Given the description of an element on the screen output the (x, y) to click on. 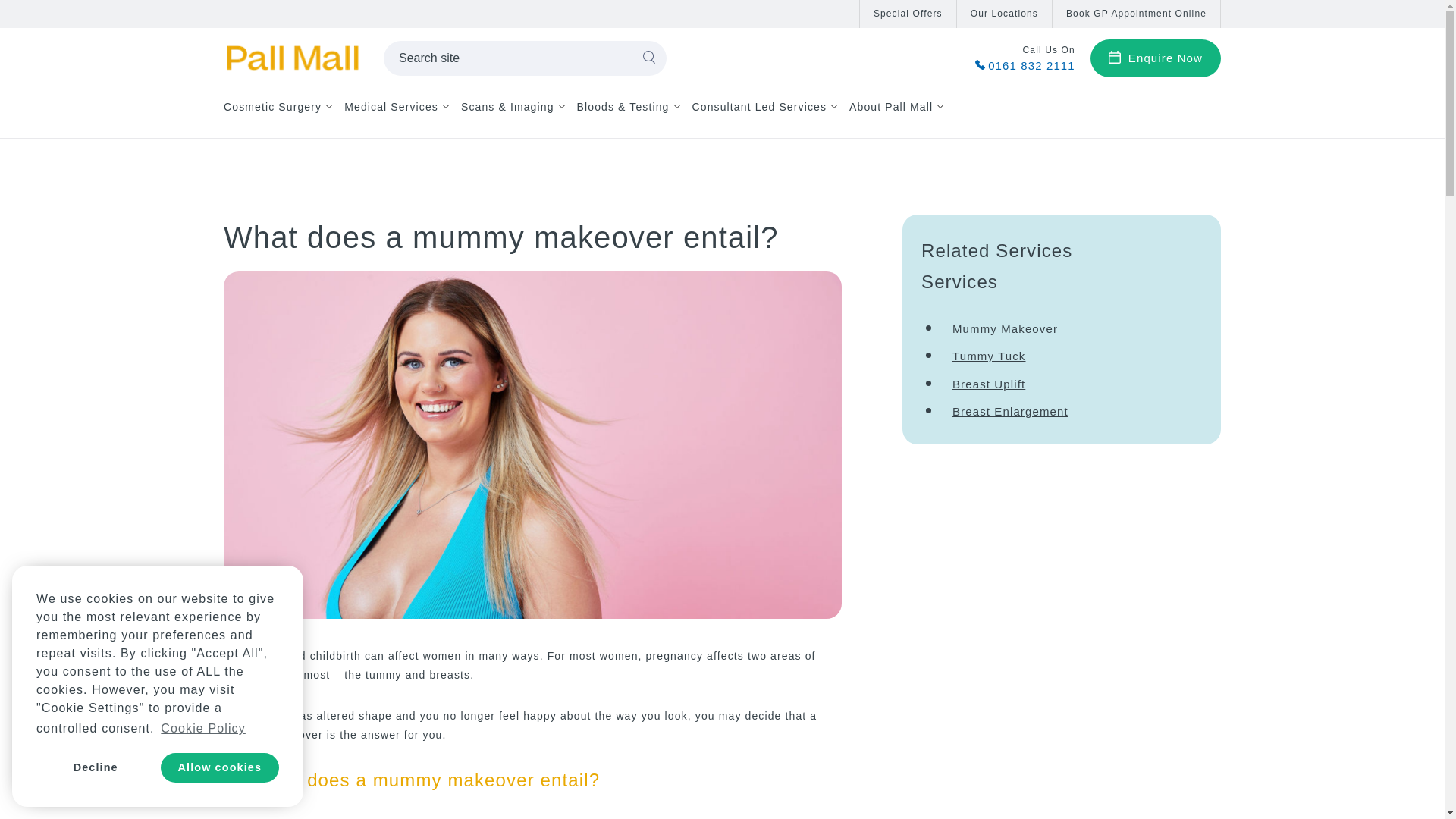
Cookie Policy (202, 728)
Allow cookies (219, 767)
Search (648, 58)
Our Locations (1003, 13)
Decline (95, 767)
Enquire Now (1155, 57)
Return To Homepage (291, 58)
Special Offers (908, 13)
Special Offers (908, 13)
Book GP Appointment Online (1136, 13)
Enquire Now (1155, 57)
Our Locations (1003, 13)
0161 832 2111 (1025, 64)
Book GP Appointment Online (1136, 13)
Search (648, 58)
